Given the description of an element on the screen output the (x, y) to click on. 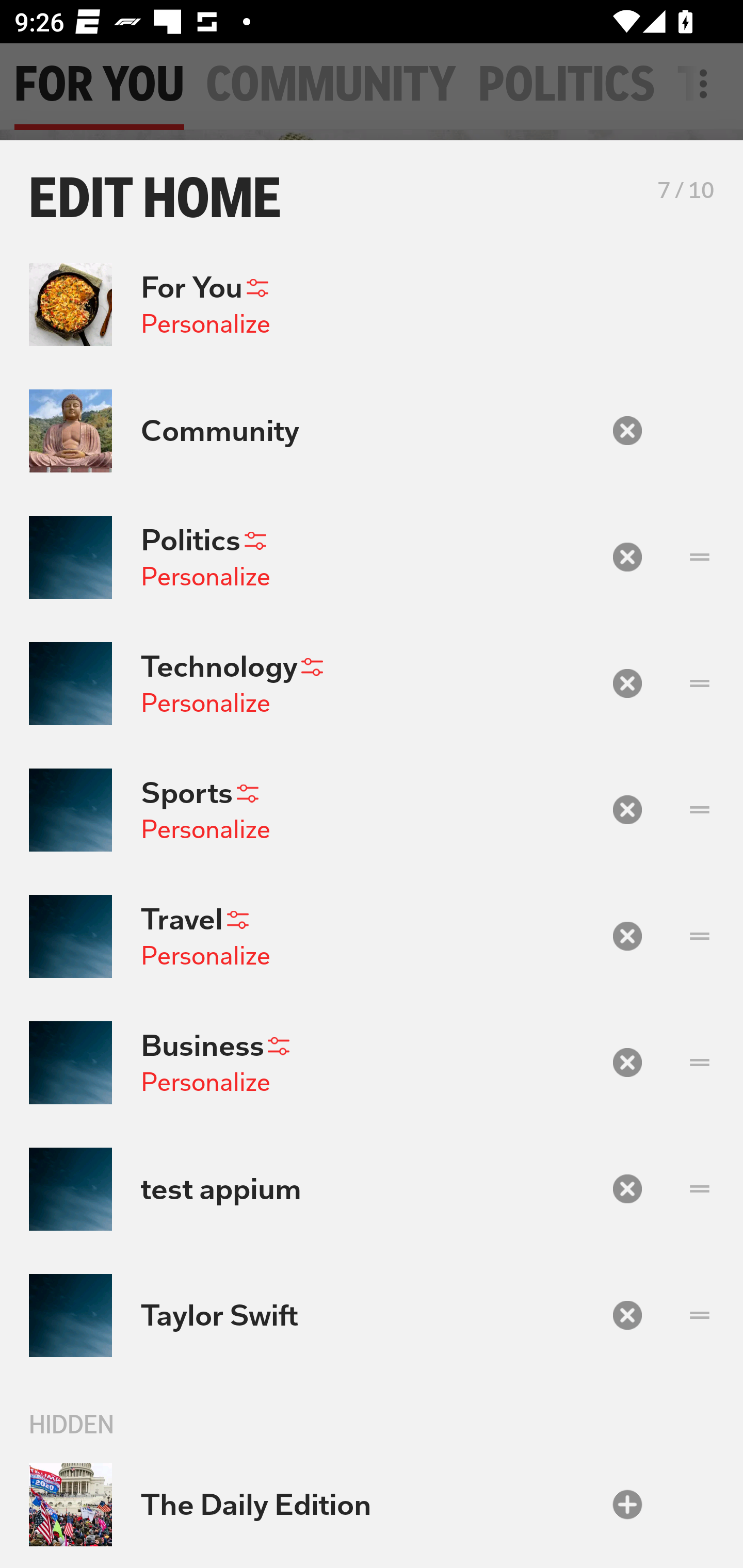
Personalize (205, 323)
Personalize (205, 576)
Personalize (205, 702)
Personalize (205, 829)
Personalize (205, 955)
Personalize (205, 1081)
